Given the description of an element on the screen output the (x, y) to click on. 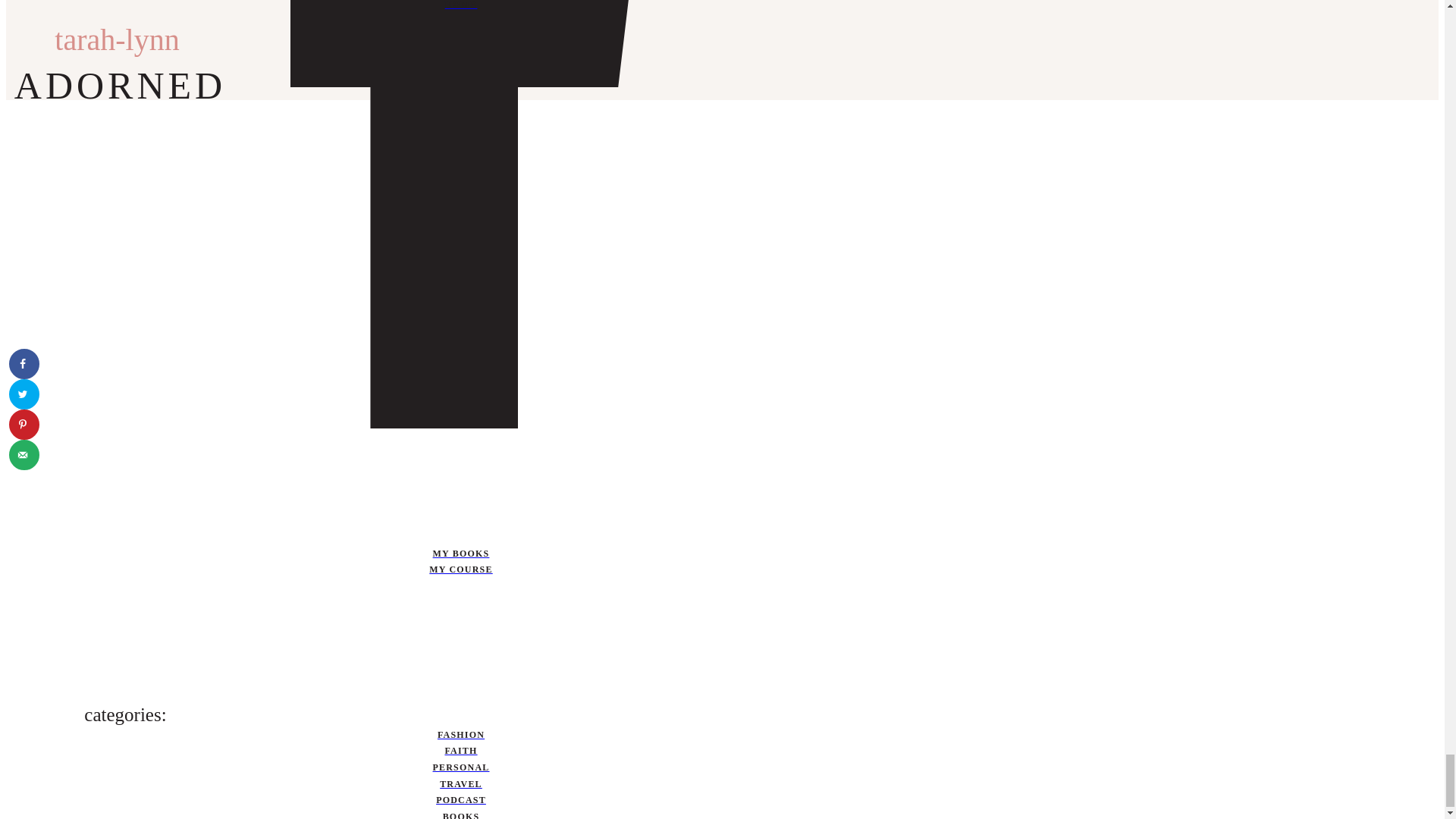
MY BOOKS (460, 554)
MY COURSE (460, 569)
